Given the description of an element on the screen output the (x, y) to click on. 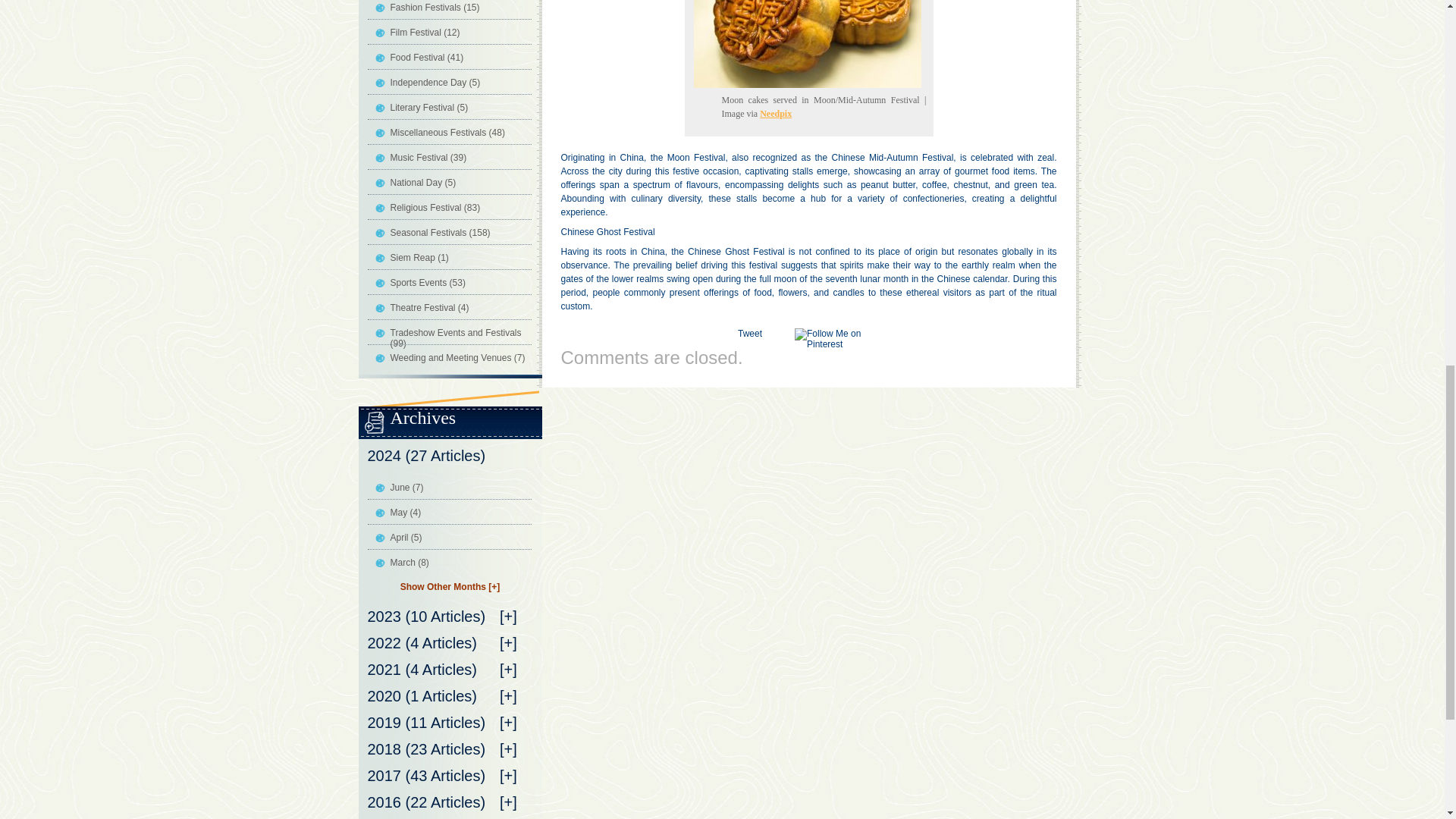
Pin It (834, 338)
